Given the description of an element on the screen output the (x, y) to click on. 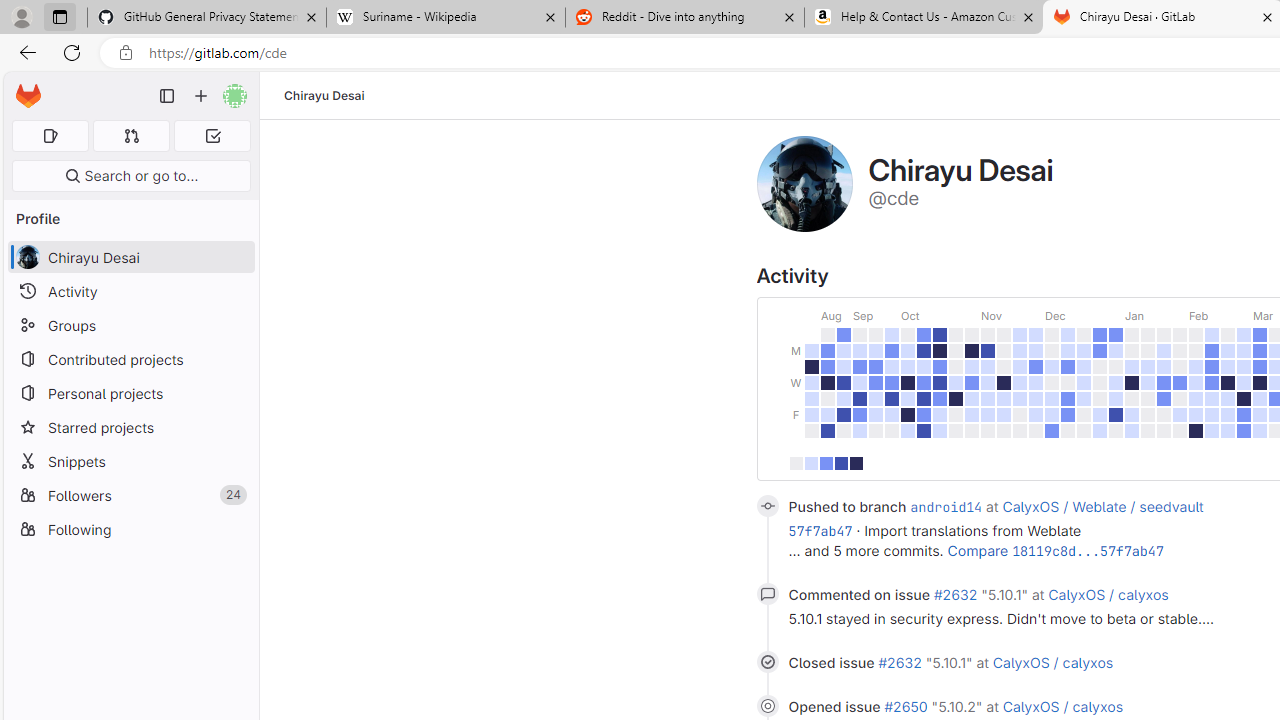
#2632 (955, 594)
Followers 24 (130, 494)
